Given the description of an element on the screen output the (x, y) to click on. 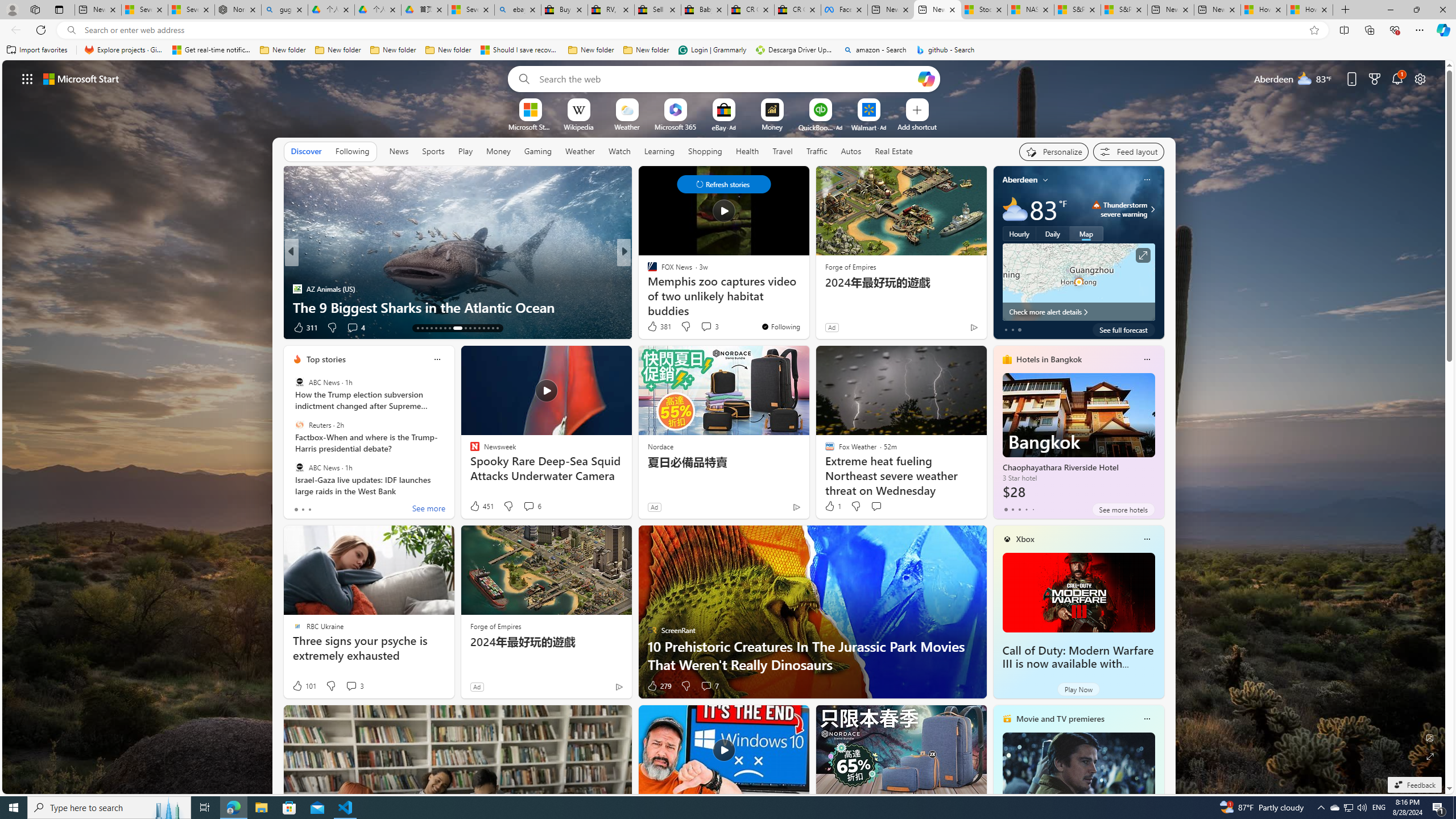
Real Estate (893, 151)
amazon - Search (875, 49)
13 Like (303, 327)
Add a site (916, 126)
Thunderstorm - Severe Thunderstorm severe warning (1119, 208)
Time (647, 270)
Sports (432, 151)
AutomationID: tab-27 (488, 328)
Baby Keepsakes & Announcements for sale | eBay (703, 9)
AutomationID: tab-22 (461, 328)
AutomationID: waffle (27, 78)
Microsoft start (81, 78)
Favorites bar (728, 49)
AutomationID: tab-13 (417, 328)
